Given the description of an element on the screen output the (x, y) to click on. 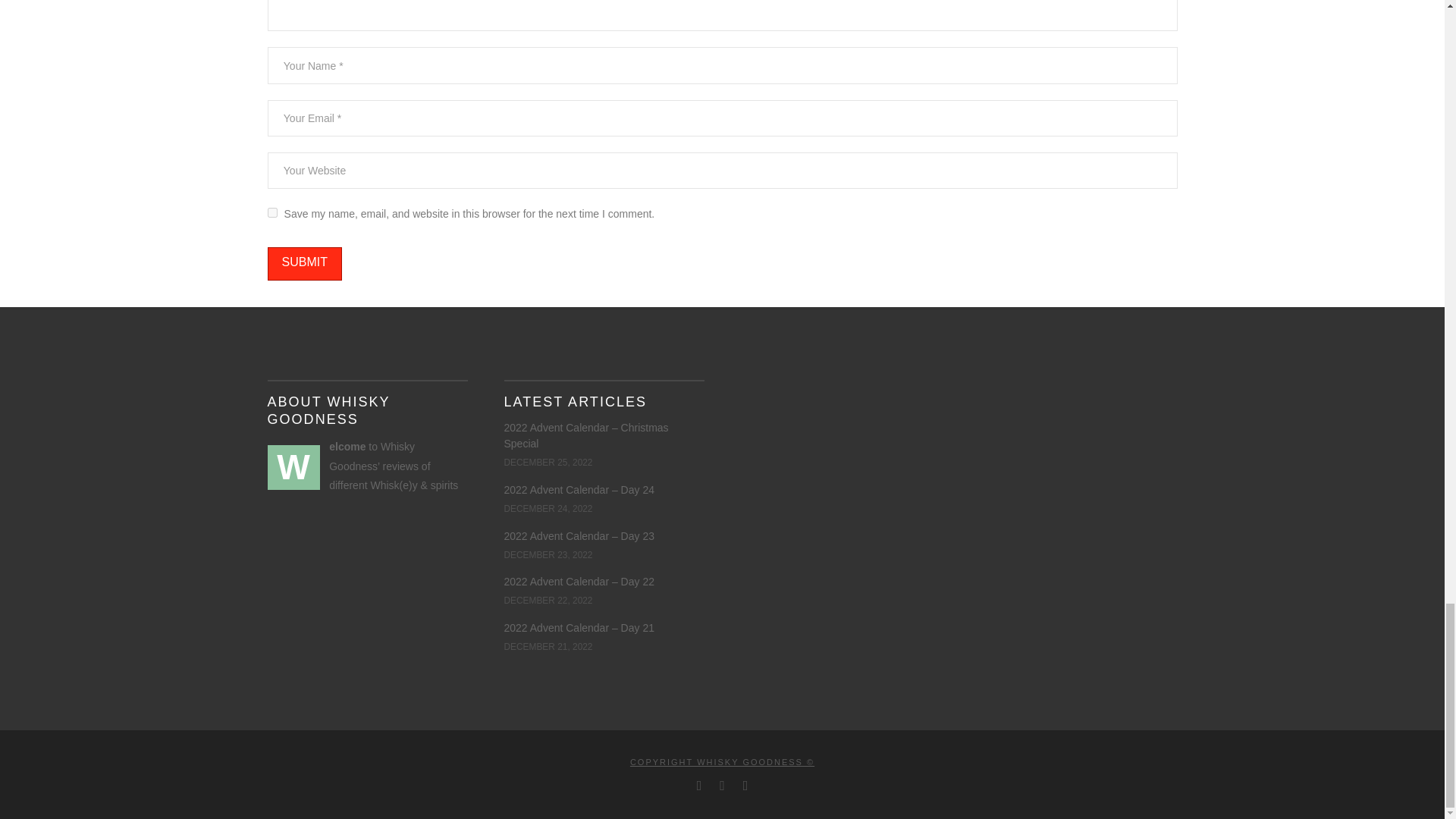
Submit (303, 264)
Submit (303, 264)
Facebook (699, 785)
Instagram (745, 785)
yes (271, 212)
